Given the description of an element on the screen output the (x, y) to click on. 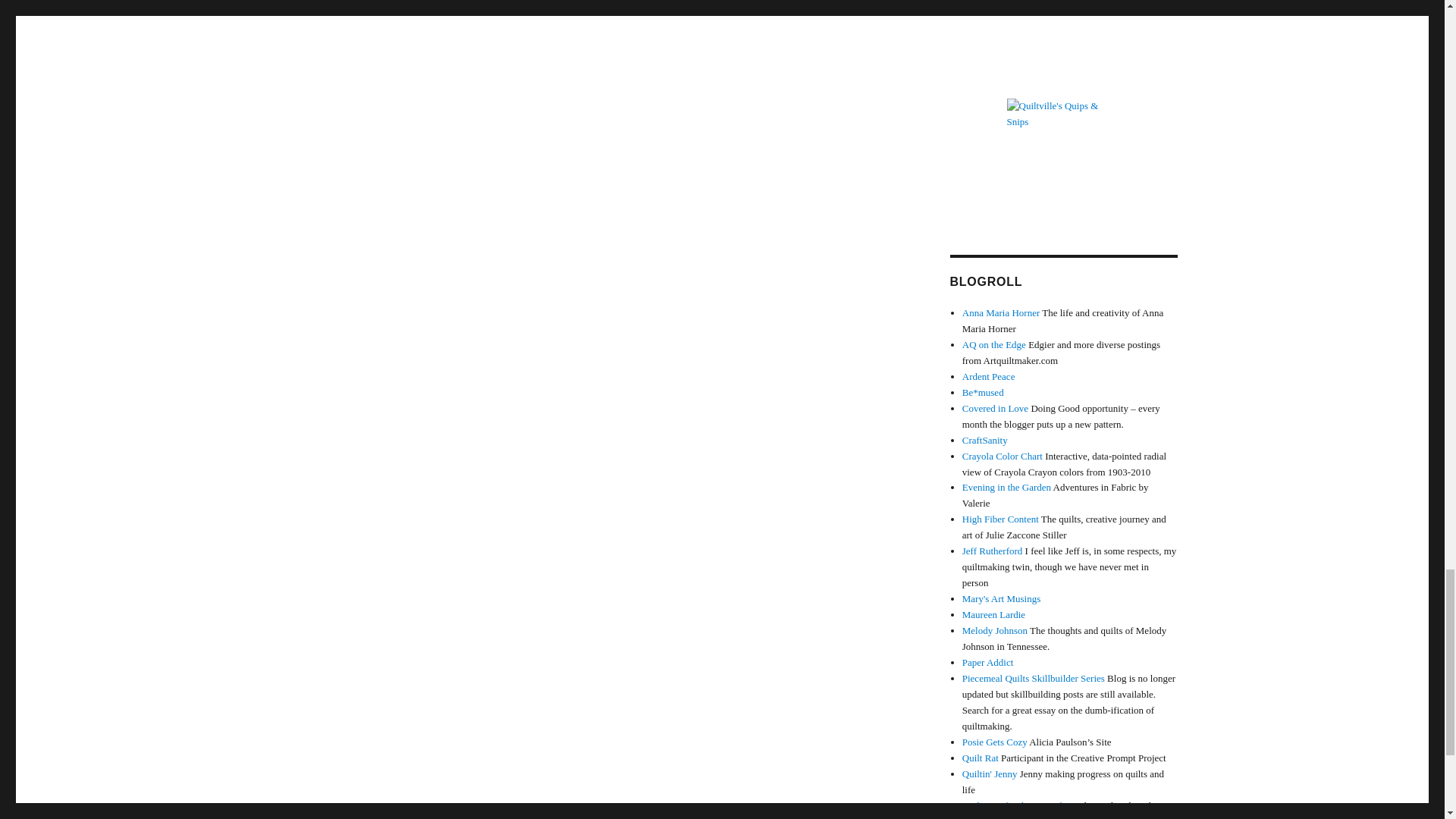
Adventures in Fabric by Valerie (1006, 487)
The life and creativity of Anna Maria Horner (1001, 312)
Edgier and more diverse postings from Artquiltmaker.com (994, 344)
